Given the description of an element on the screen output the (x, y) to click on. 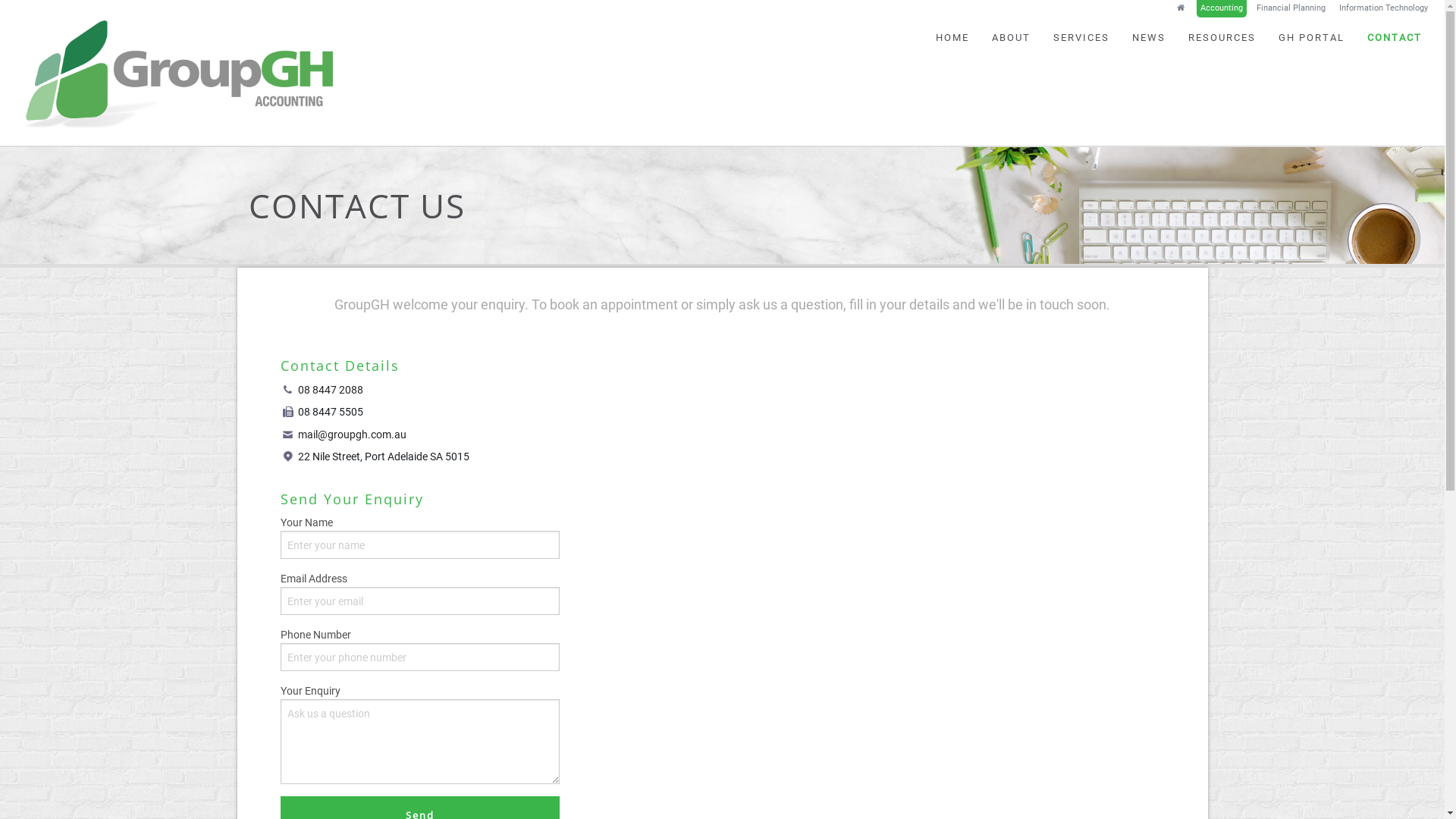
mail@groupgh.com.au Element type: text (352, 434)
Financial Planning Element type: text (1290, 8)
NEWS Element type: text (1148, 37)
ABOUT Element type: text (1010, 37)
08 8447 2088 Element type: text (330, 389)
CONTACT Element type: text (1394, 37)
SERVICES Element type: text (1080, 37)
RESOURCES Element type: text (1221, 37)
Information Technology Element type: text (1383, 8)
GH PORTAL Element type: text (1311, 37)
HOME Element type: text (952, 37)
